Given the description of an element on the screen output the (x, y) to click on. 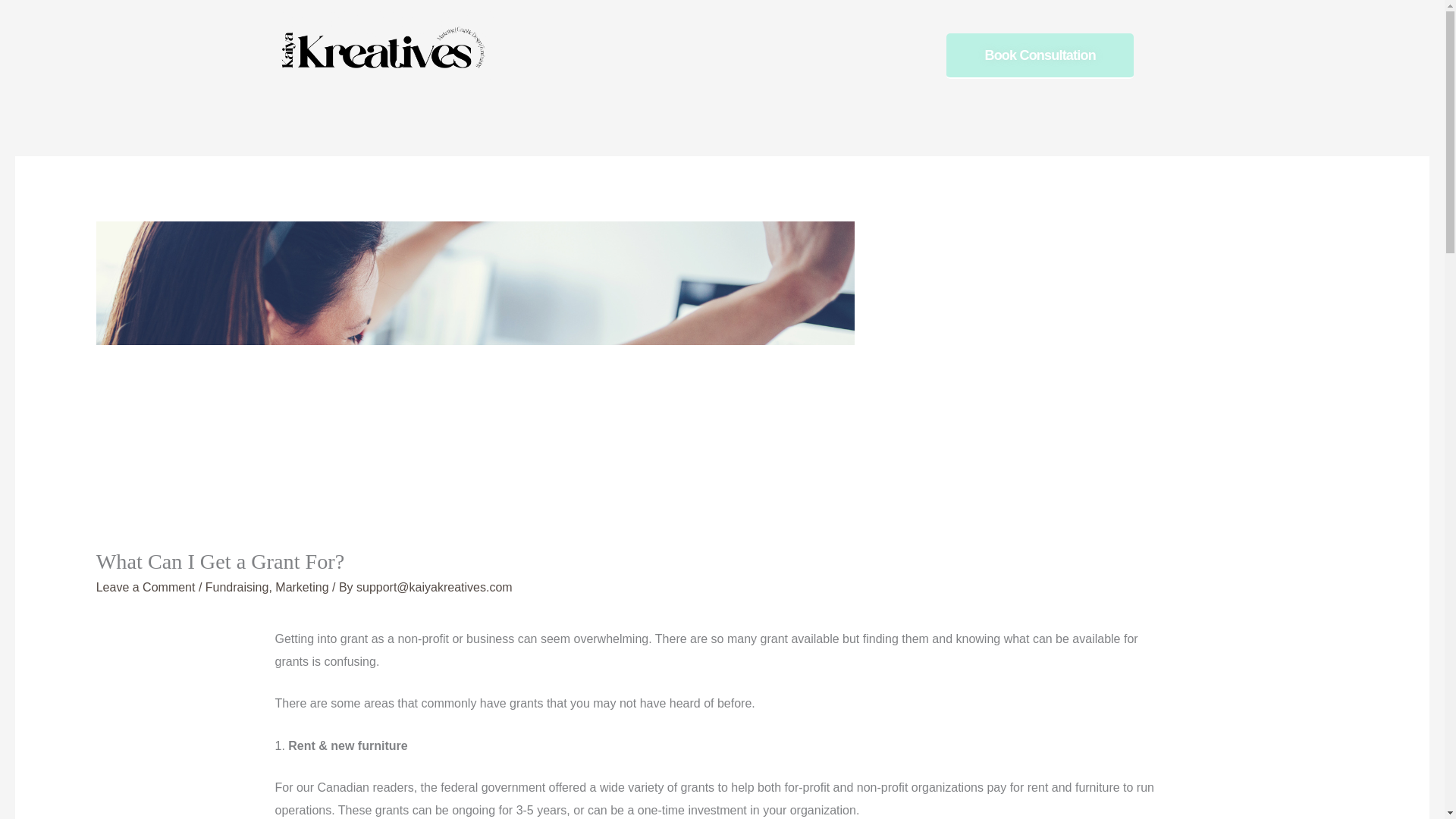
Leave a Comment (145, 586)
Marketing (302, 586)
Book Consultation (1039, 55)
Fundraising (237, 586)
